Given the description of an element on the screen output the (x, y) to click on. 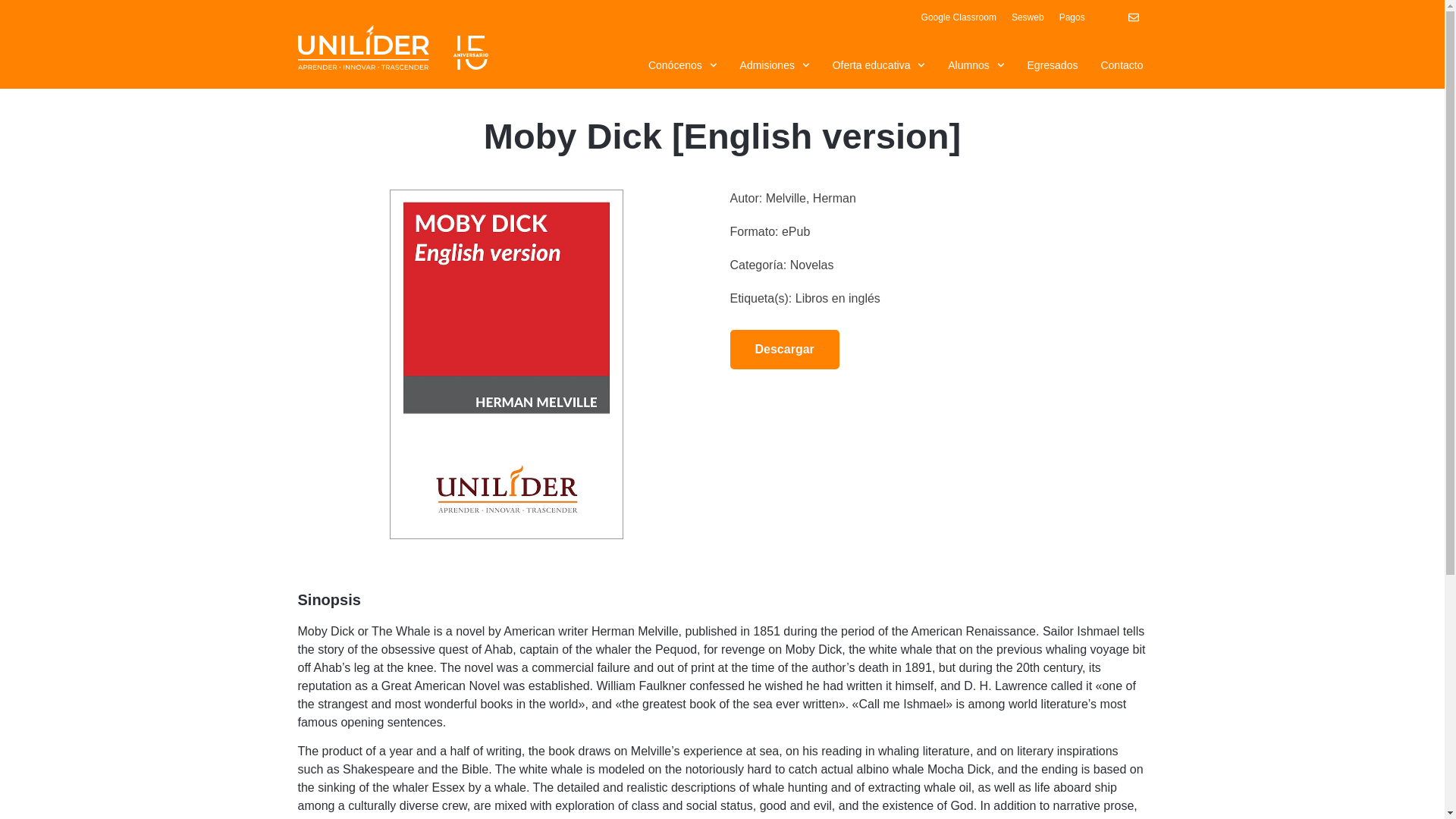
Admisiones (775, 64)
Sesweb (1027, 17)
Egresados (1052, 64)
Pagos           (1084, 17)
Google Classroom (958, 17)
Oferta educativa (879, 64)
Contacto (1121, 64)
Alumnos (975, 64)
